Given the description of an element on the screen output the (x, y) to click on. 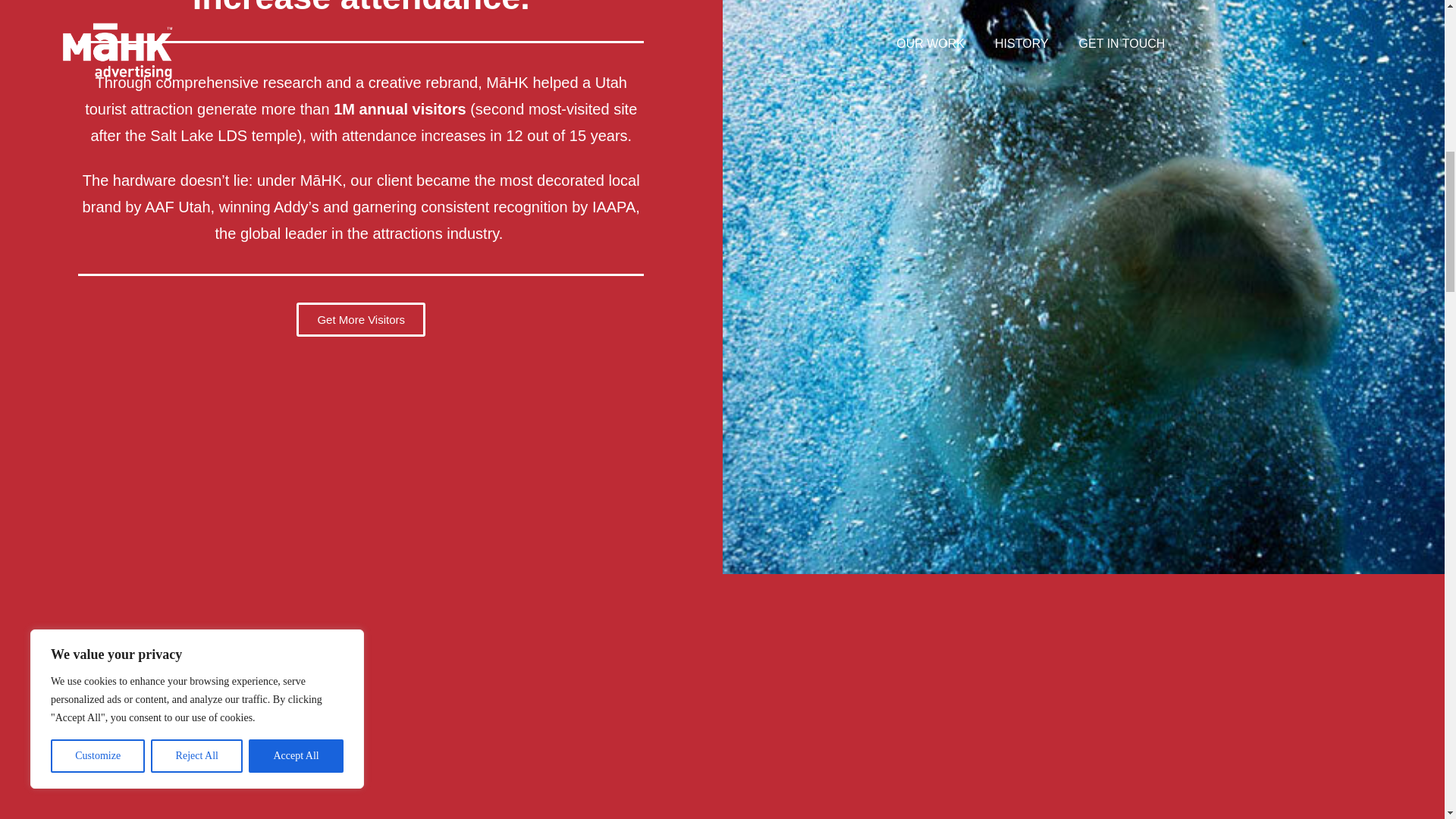
Get More Visitors (349, 319)
